Given the description of an element on the screen output the (x, y) to click on. 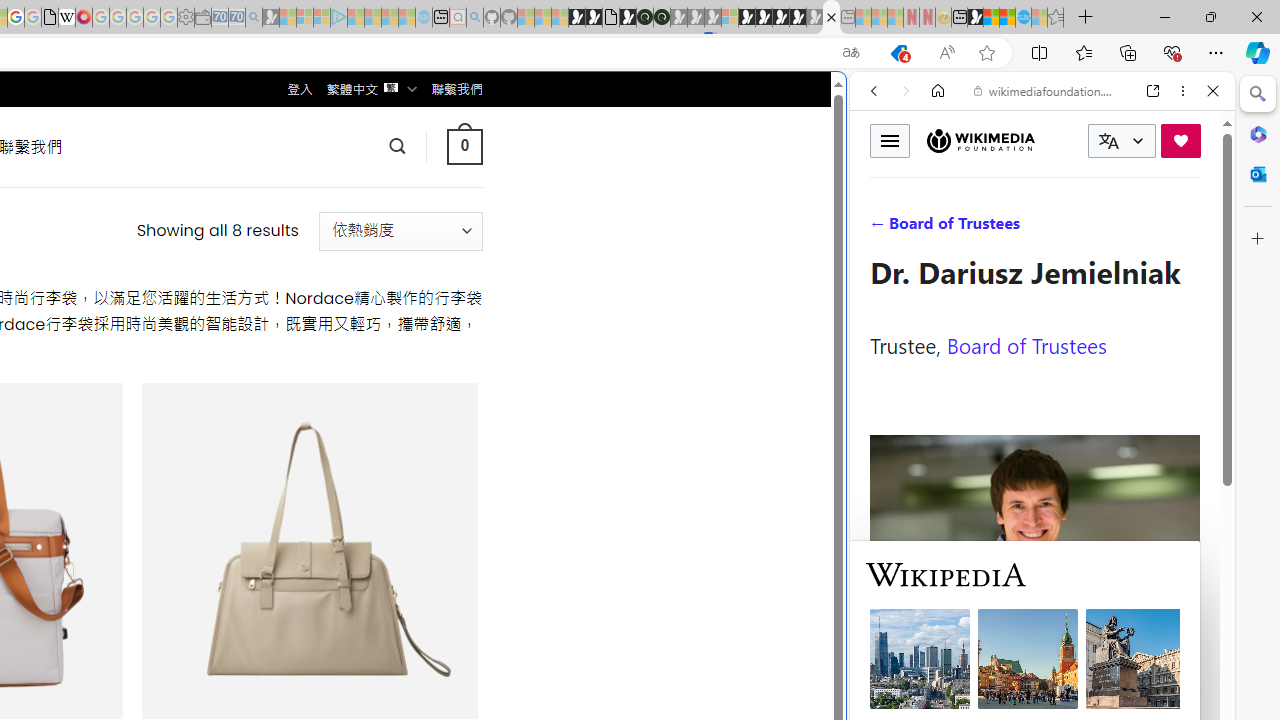
Earth has six continents not seven, radical new study claims (1007, 17)
WEB   (882, 228)
Target page - Wikipedia (66, 17)
Close split screen (844, 102)
